Given the description of an element on the screen output the (x, y) to click on. 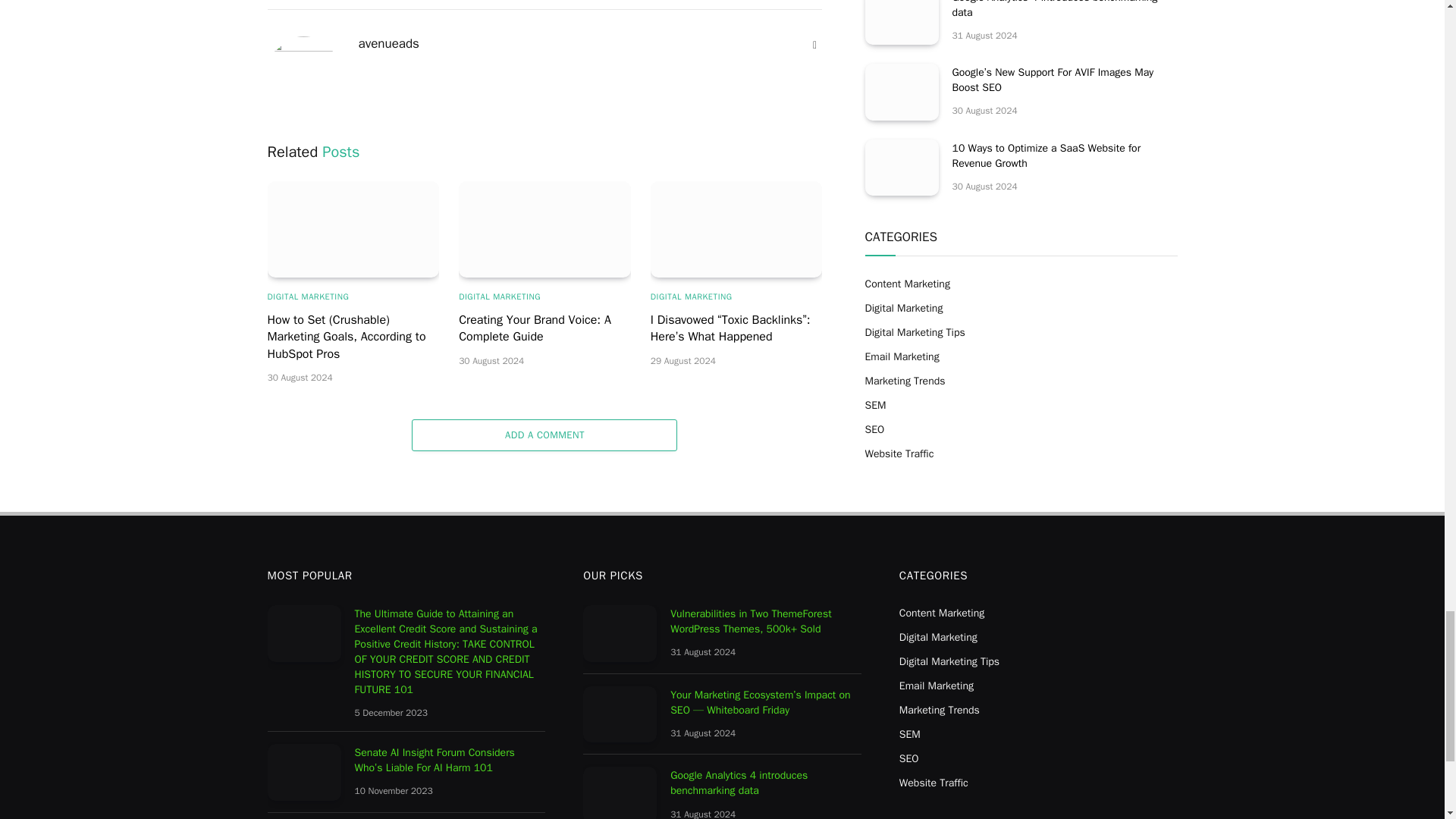
Posts by avenueads (388, 43)
Website (814, 45)
Creating Your Brand Voice: A Complete Guide (544, 228)
avenueads (388, 43)
Website (814, 45)
